Given the description of an element on the screen output the (x, y) to click on. 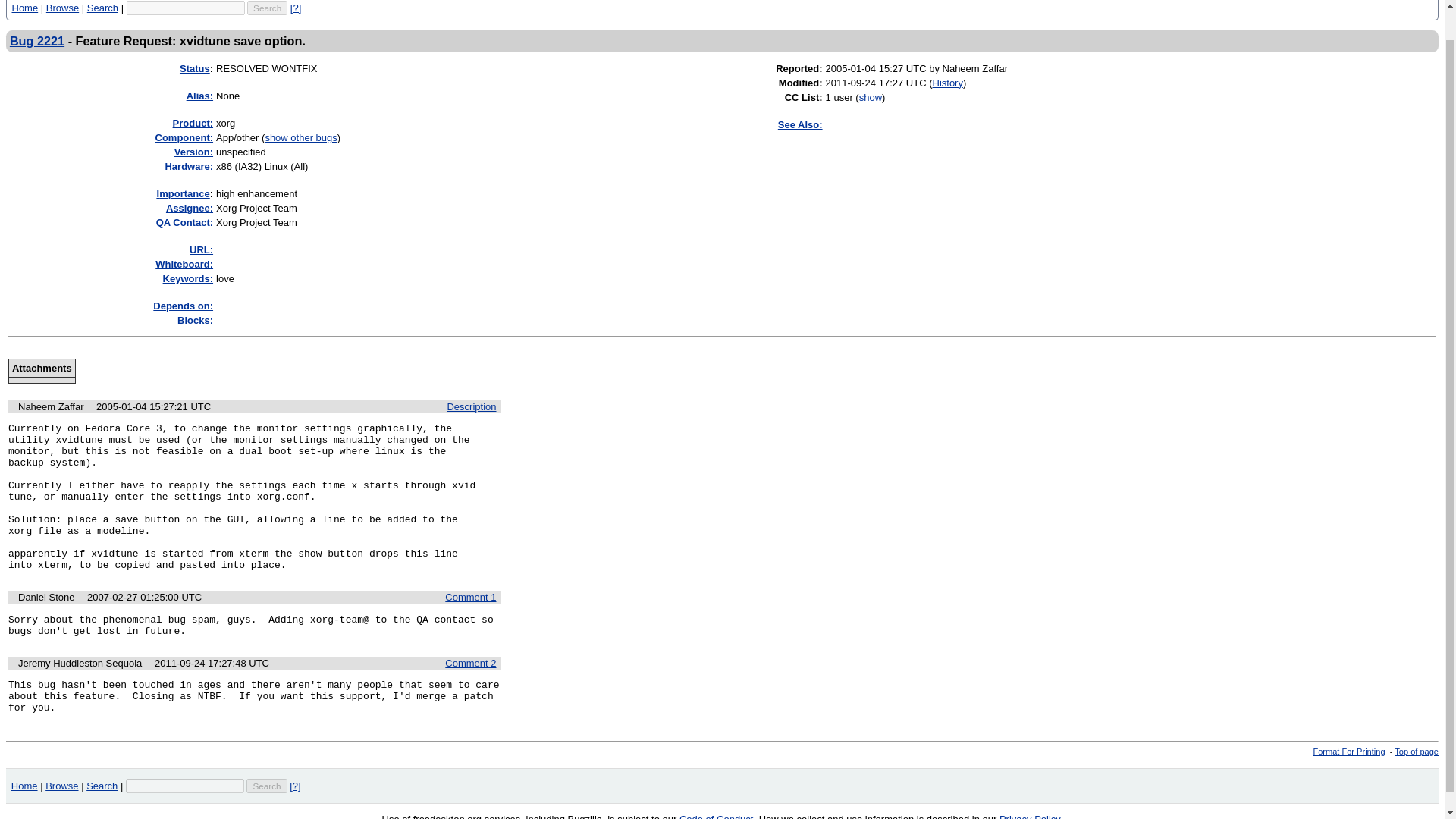
show other bugs (300, 137)
Keywords: (187, 278)
Comment 2 (470, 663)
Bugs are categorised into Products and Components. (192, 122)
Home (25, 7)
Search (266, 785)
Search (266, 7)
